Given the description of an element on the screen output the (x, y) to click on. 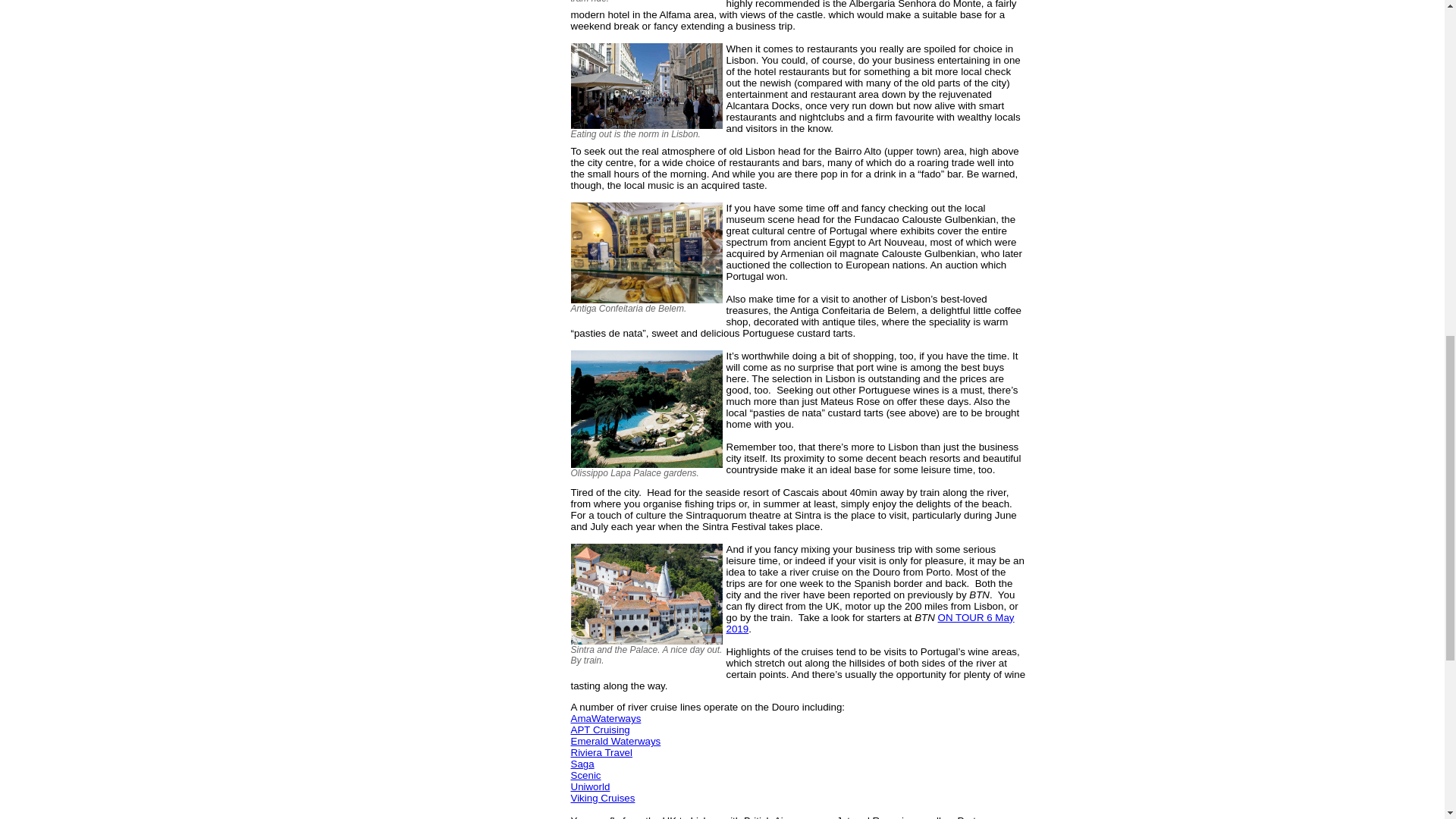
Viking Cruises (602, 797)
Saga (582, 763)
Eating out is the norm in Lisbon. (647, 85)
Riviera Travel (600, 752)
Emerald Waterways (615, 740)
APT Cruising (599, 729)
Antiga Confeitaria de Belem. (647, 252)
AmaWaterways (605, 717)
Sintra and the Palace. A nice day out. By train. (647, 593)
Scenic (584, 775)
Olissippo Lapa Palace gardens. (647, 408)
ON TOUR 6 May 2019 (870, 622)
Uniworld (590, 786)
